Given the description of an element on the screen output the (x, y) to click on. 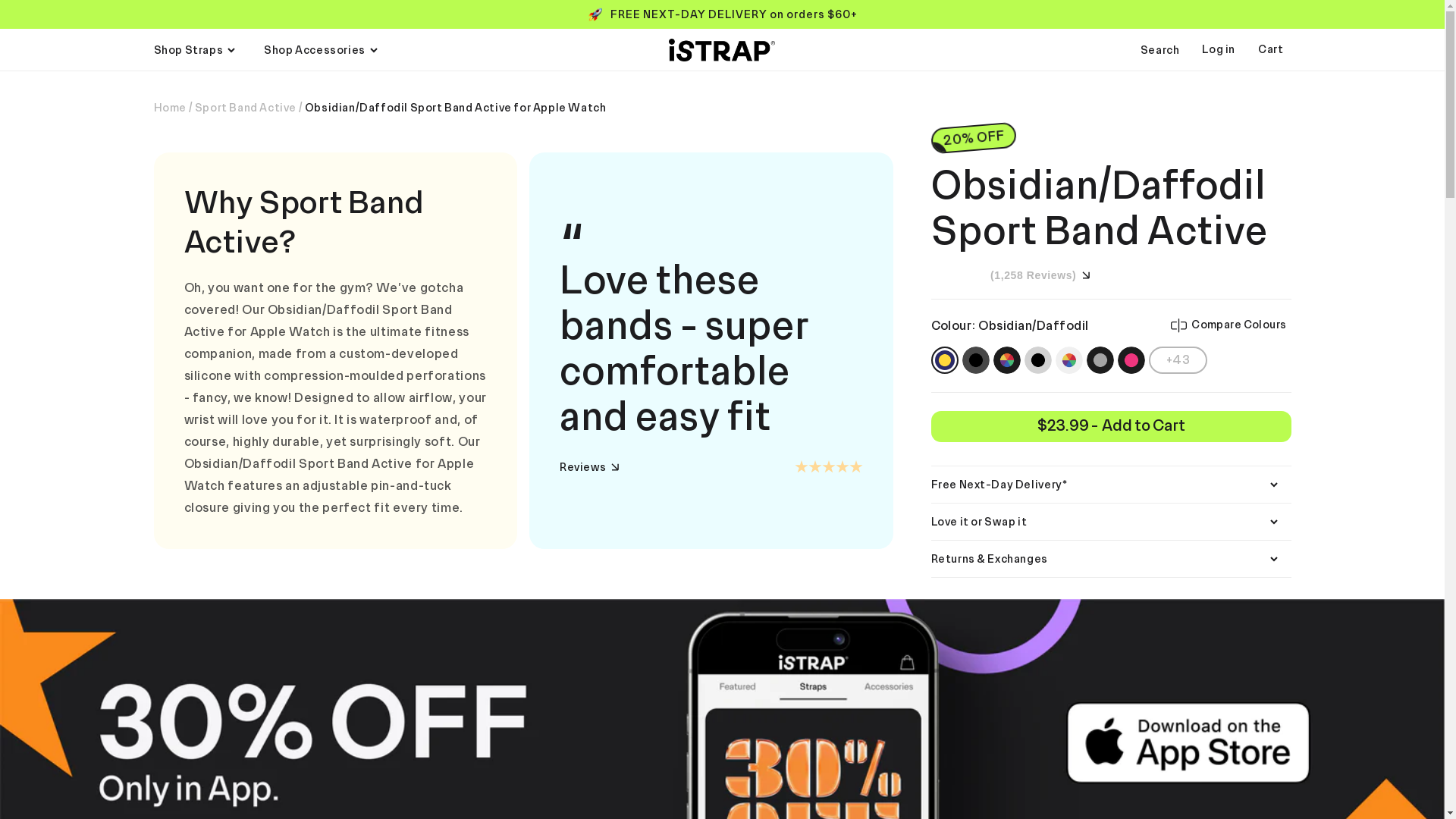
Rated 5.0 out of 5 stars
1,258 Reviews Element type: text (1010, 274)
Home Element type: text (169, 107)
Add to Cart
$23.99 - Element type: text (1111, 426)
Cart Element type: text (1274, 49)
Log in Element type: text (1229, 49)
Skip to product information Element type: text (168, 130)
Reviews Element type: text (588, 466)
+43 Element type: text (1177, 359)
Compare Colours Element type: text (1228, 325)
Sport Band Active Element type: text (245, 107)
